Given the description of an element on the screen output the (x, y) to click on. 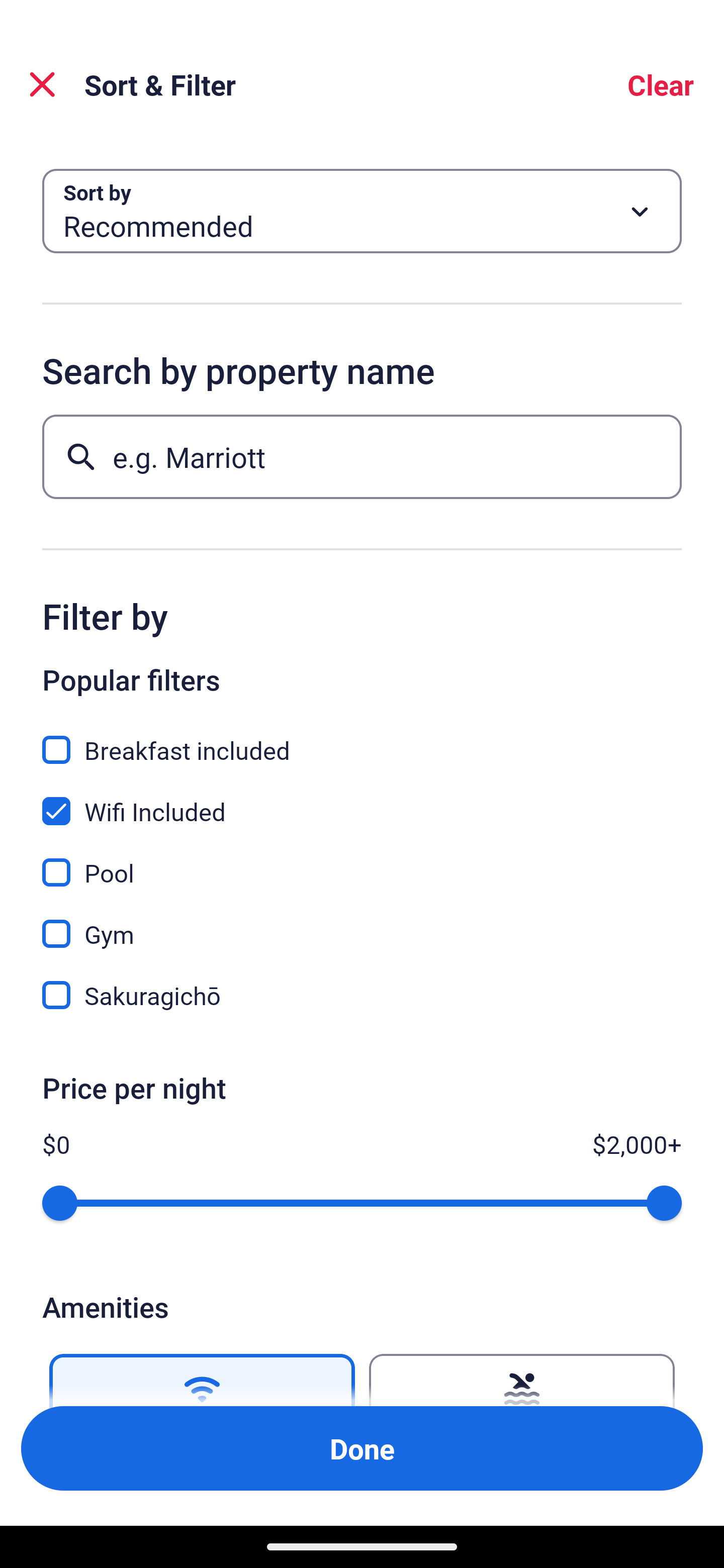
Close Sort and Filter (42, 84)
Clear (660, 84)
Sort by Button Recommended (361, 211)
e.g. Marriott Button (361, 455)
Breakfast included, Breakfast included (361, 738)
Wifi Included, Wifi Included (361, 800)
Pool, Pool (361, 861)
Gym, Gym (361, 922)
Sakuragichō, Sakuragichō (361, 995)
Apply and close Sort and Filter Done (361, 1448)
